Given the description of an element on the screen output the (x, y) to click on. 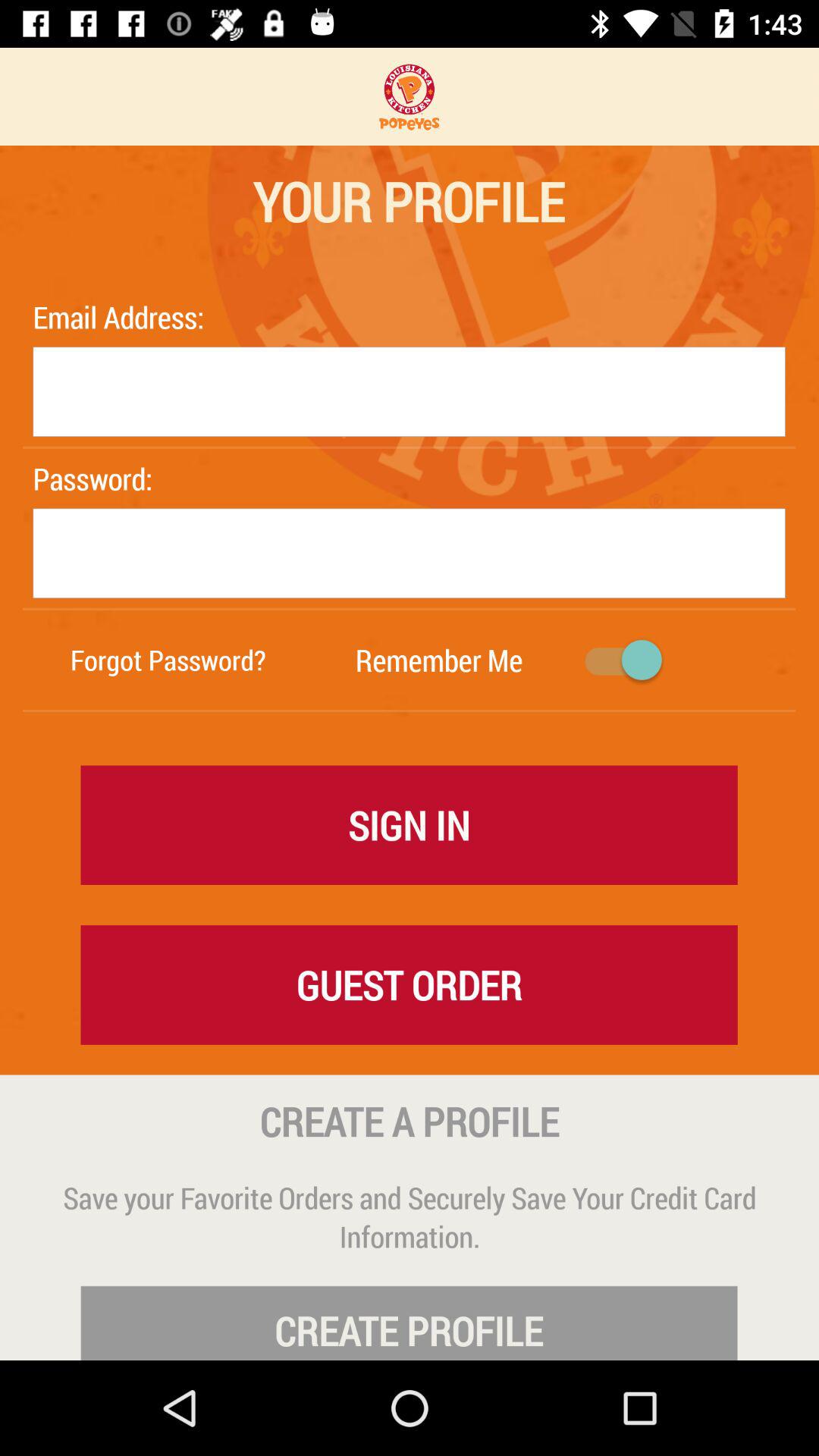
turn off the item above the create a profile icon (409, 984)
